Given the description of an element on the screen output the (x, y) to click on. 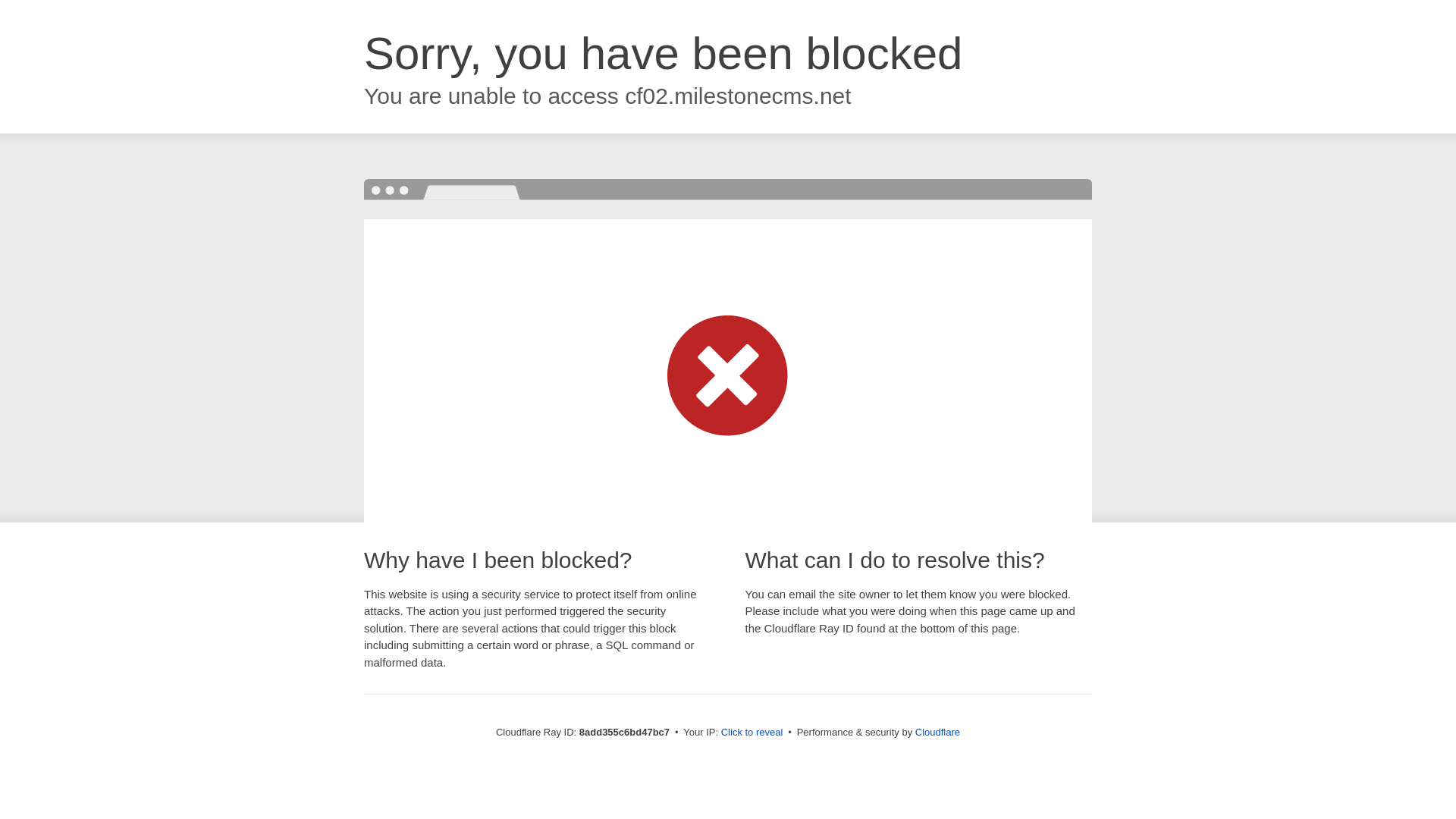
Click to reveal (751, 732)
Cloudflare (937, 731)
